Given the description of an element on the screen output the (x, y) to click on. 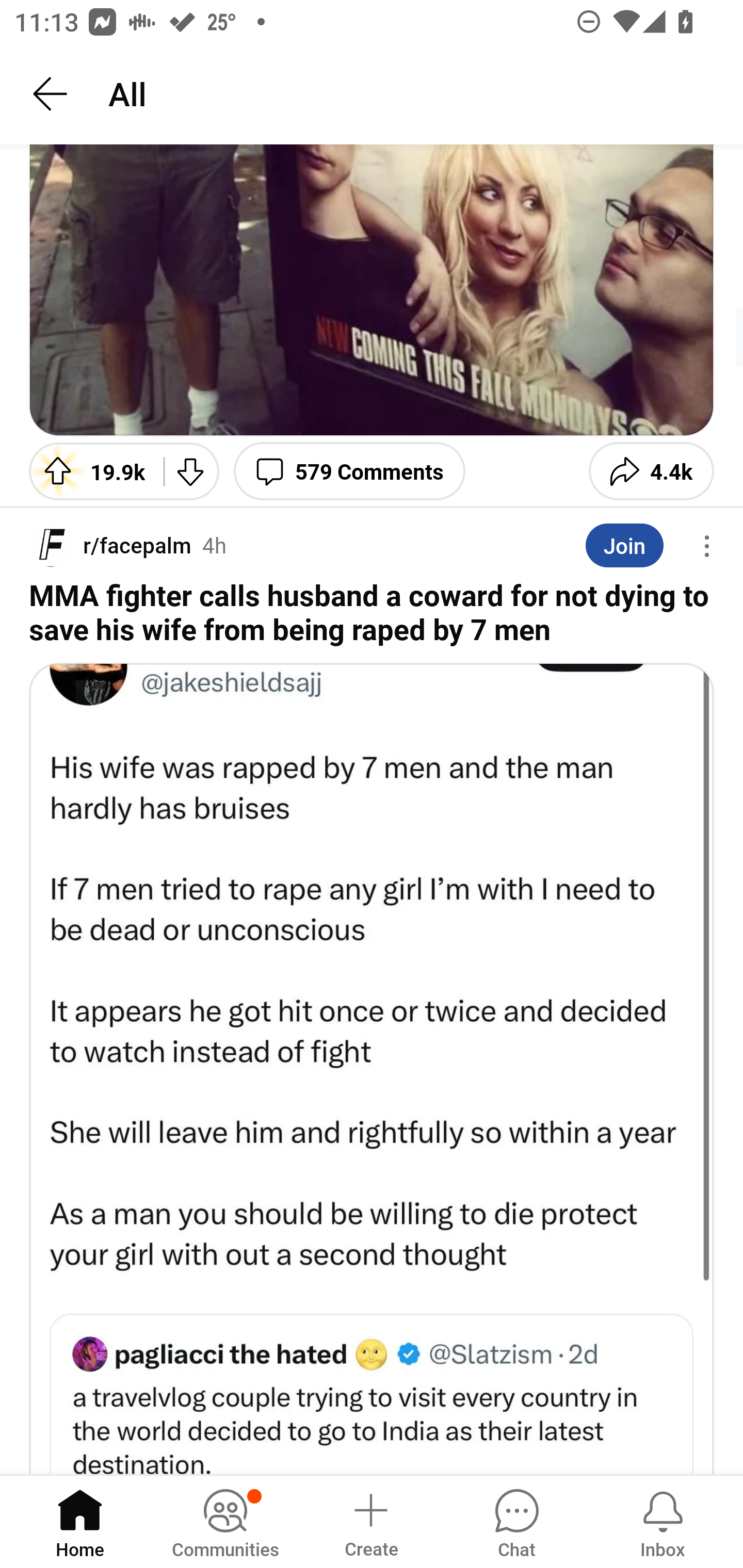
Image (371, 289)
Upvote 19.9k (88, 470)
Downvote (191, 470)
579 Comments (349, 470)
Share 4.4k (651, 470)
Avatar r/facepalm (109, 545)
Join (624, 544)
Overflow menu (706, 546)
Image (371, 1068)
Home (80, 1520)
Communities, has notifications Communities (225, 1520)
Create a post Create (370, 1520)
Chat (516, 1520)
Inbox (662, 1520)
